Given the description of an element on the screen output the (x, y) to click on. 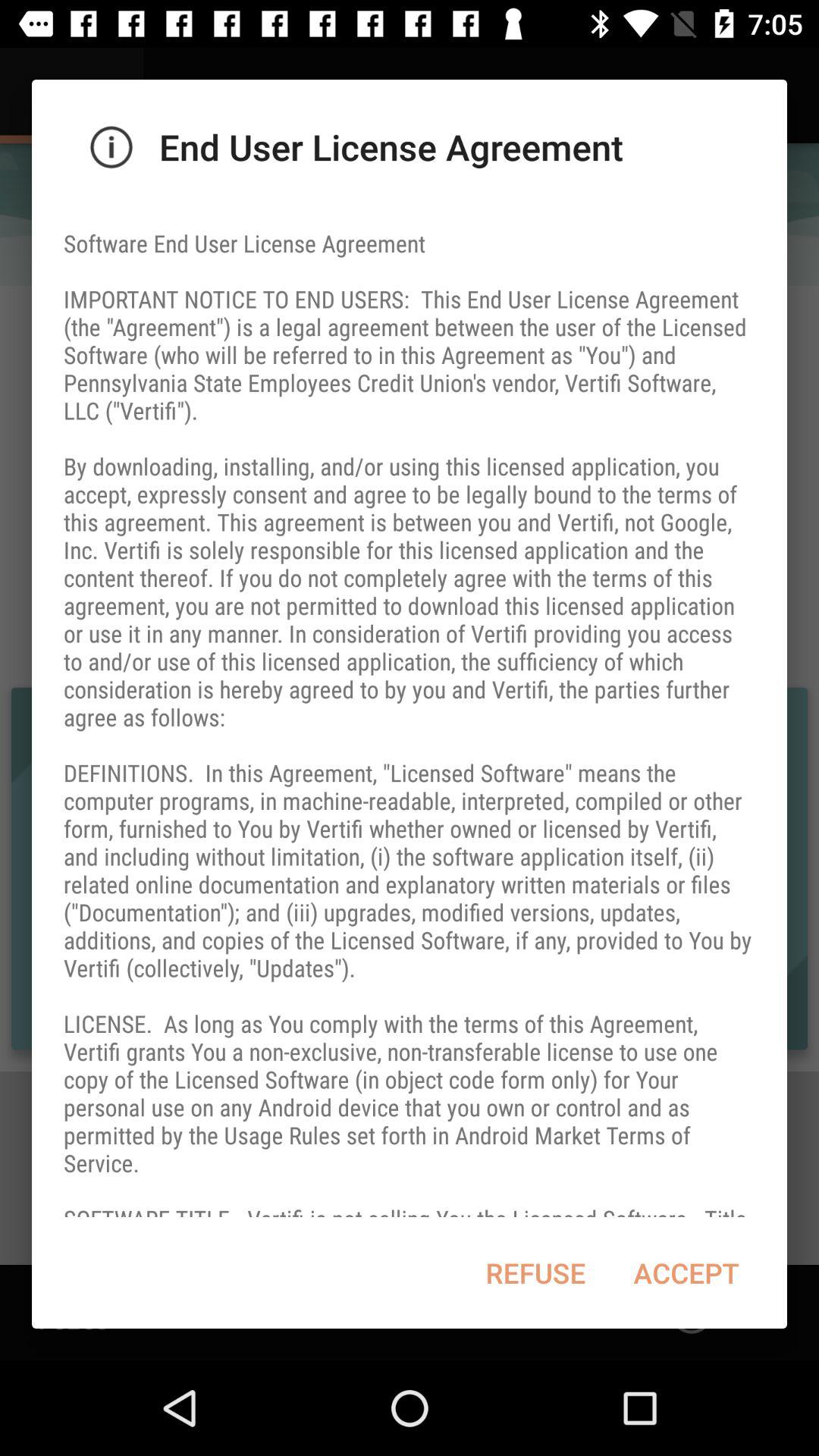
open item to the right of the refuse item (686, 1272)
